Given the description of an element on the screen output the (x, y) to click on. 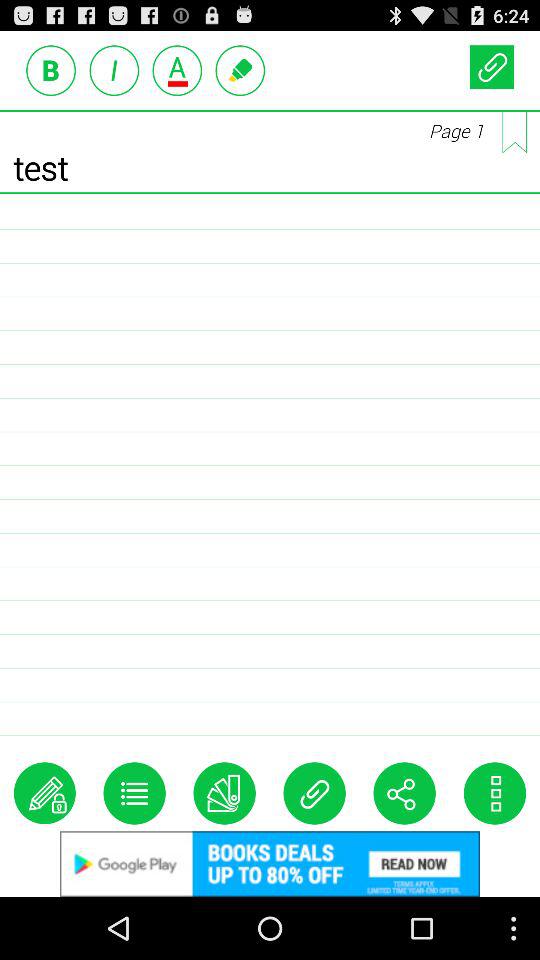
go to customize option (494, 793)
